Given the description of an element on the screen output the (x, y) to click on. 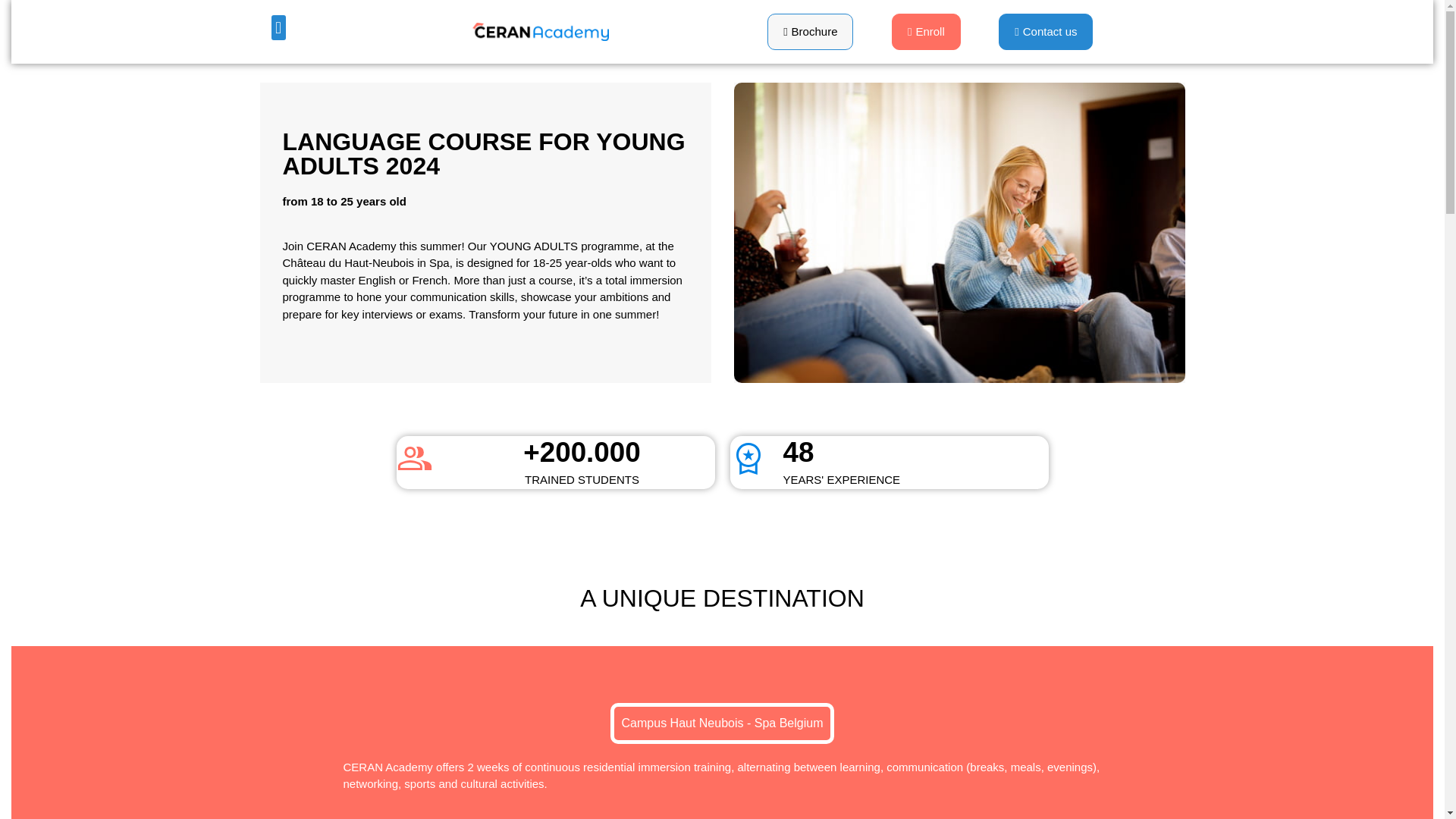
Campus Haut Neubois - Spa Belgium (722, 722)
Contact us (1045, 31)
Enroll (925, 31)
Brochure (810, 31)
